Given the description of an element on the screen output the (x, y) to click on. 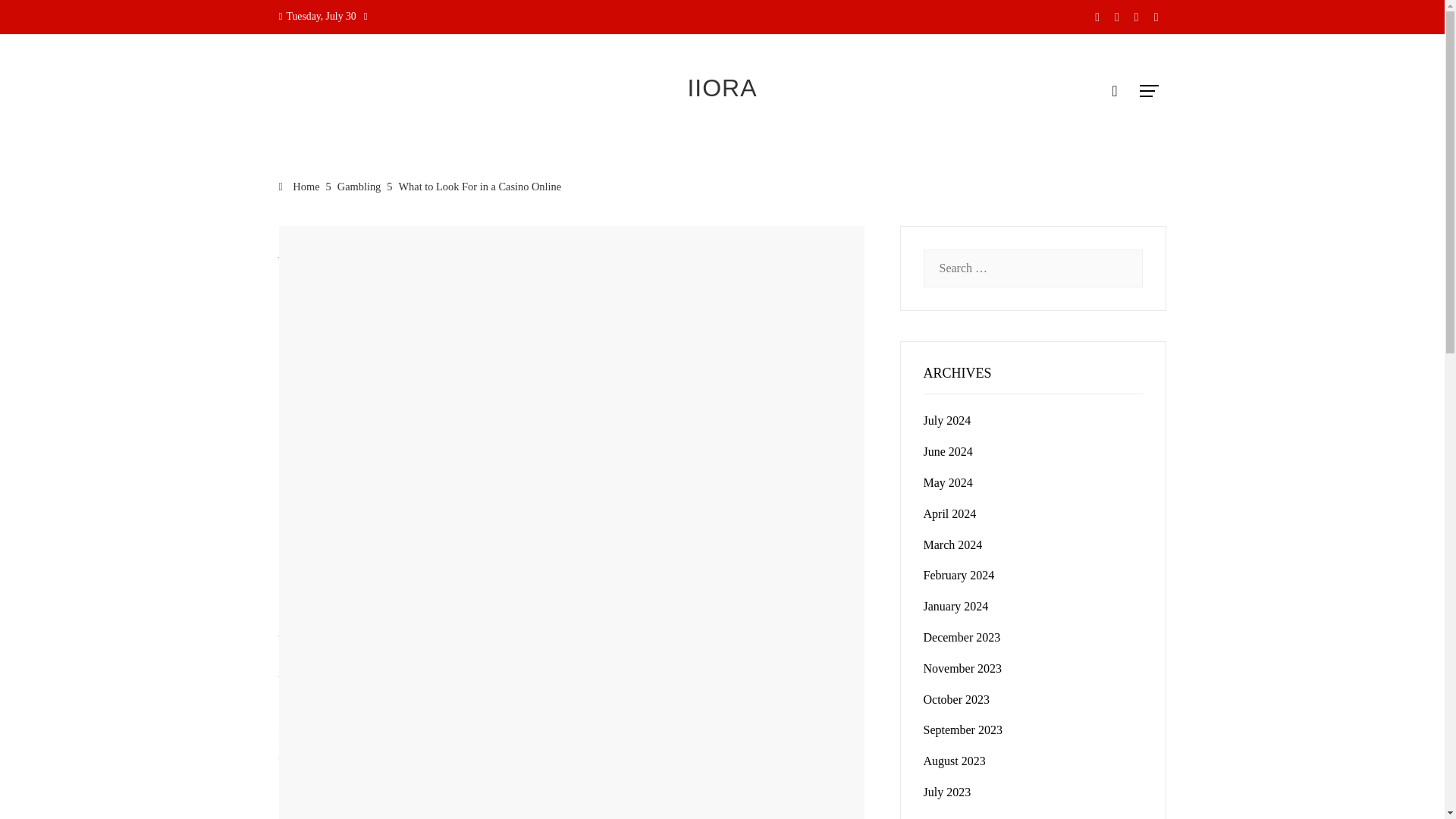
October 2023 (956, 698)
June 2024 (947, 451)
August 2023 (954, 760)
September 2023 (963, 729)
February 2024 (958, 574)
GAMBLING (305, 230)
Gambling (359, 186)
June 2023 (947, 817)
March 2024 (952, 544)
Search (35, 18)
November 2023 (963, 667)
Home (299, 186)
December 2023 (962, 636)
July 2023 (947, 791)
IIORA (722, 87)
